Given the description of an element on the screen output the (x, y) to click on. 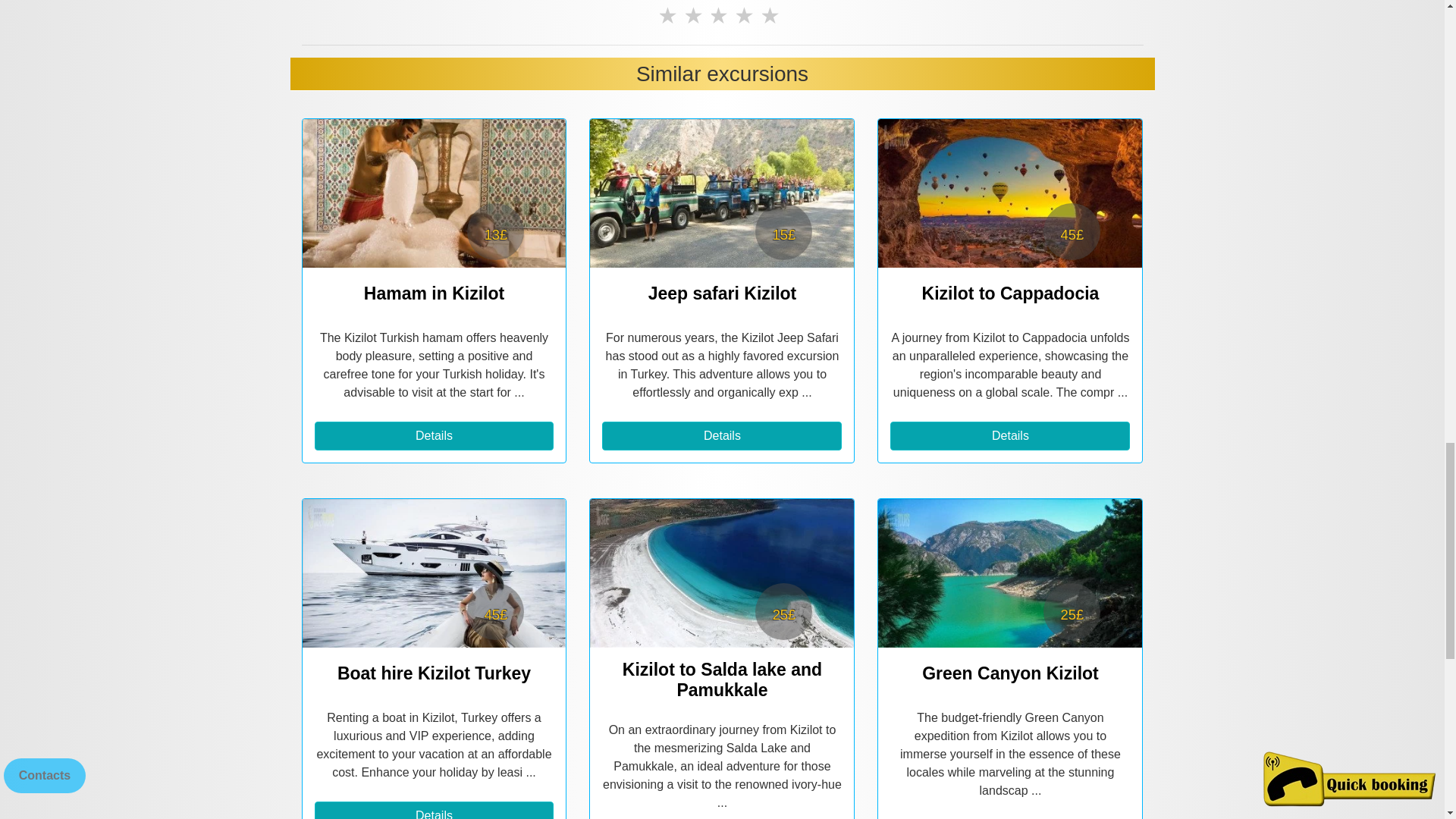
3 stars (722, 16)
Boat hire Kizilot Turkey (433, 572)
1 star (670, 16)
5 stars (772, 16)
4 stars (747, 16)
1 stars (670, 16)
4 stars (747, 16)
Kizilot to Cappadocia (1009, 192)
Hamam in Kizilot (433, 192)
5 stars (772, 16)
2 stars (696, 16)
3 stars (722, 16)
Jeep safari Kizilot (721, 192)
2 stars (696, 16)
